Given the description of an element on the screen output the (x, y) to click on. 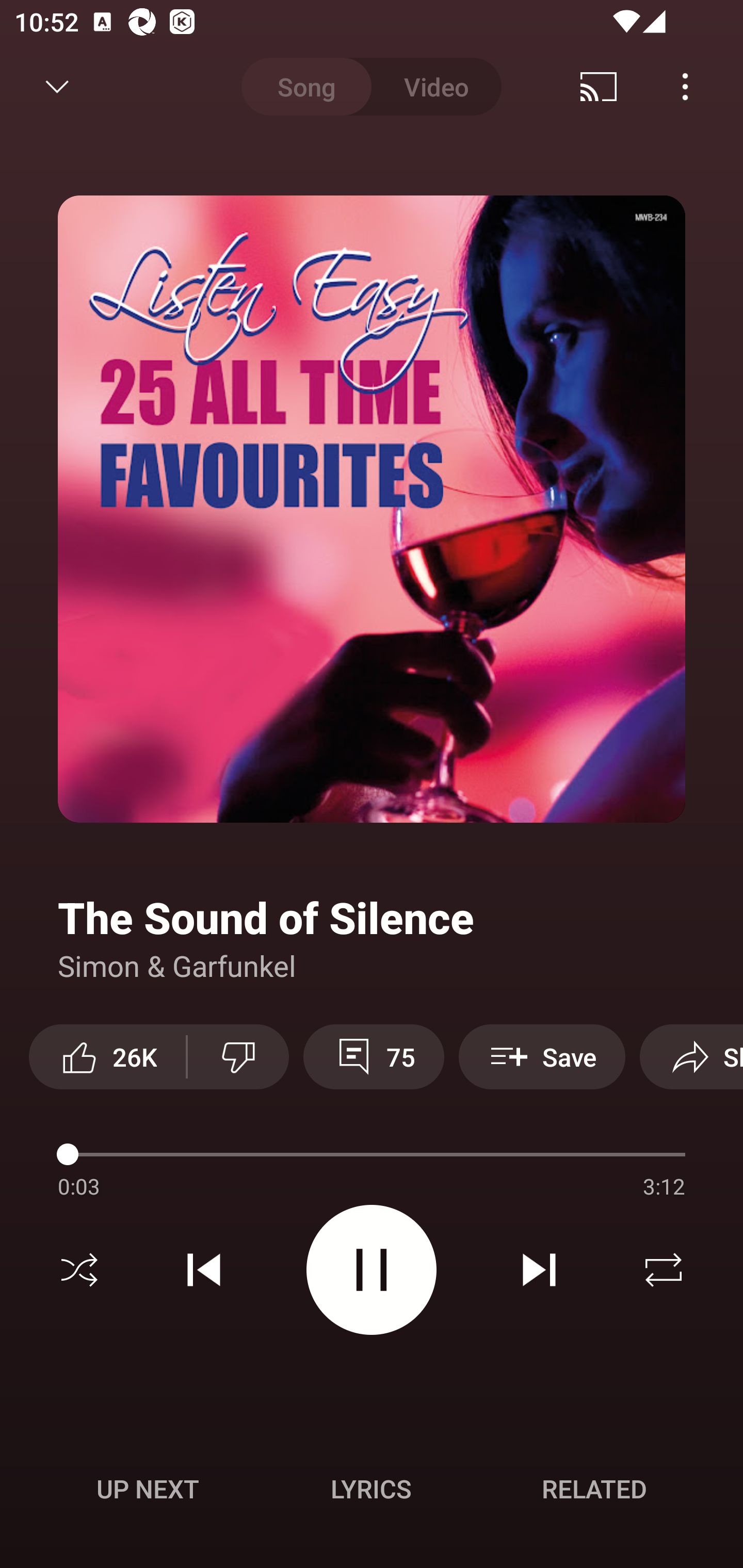
Minimize (57, 86)
Clear search (605, 86)
Voice search (699, 86)
26K like this video along with 26,326 other people (106, 1056)
Dislike (238, 1056)
75 View 75 comments (373, 1056)
Save Save to playlist (541, 1056)
Share (691, 1056)
Pause video (371, 1269)
Shuffle off (79, 1269)
Previous track (203, 1269)
Next track (538, 1269)
Repeat off (663, 1269)
Up next UP NEXT Lyrics LYRICS Related RELATED (371, 1491)
Lyrics LYRICS (370, 1488)
Related RELATED (594, 1488)
